Given the description of an element on the screen output the (x, y) to click on. 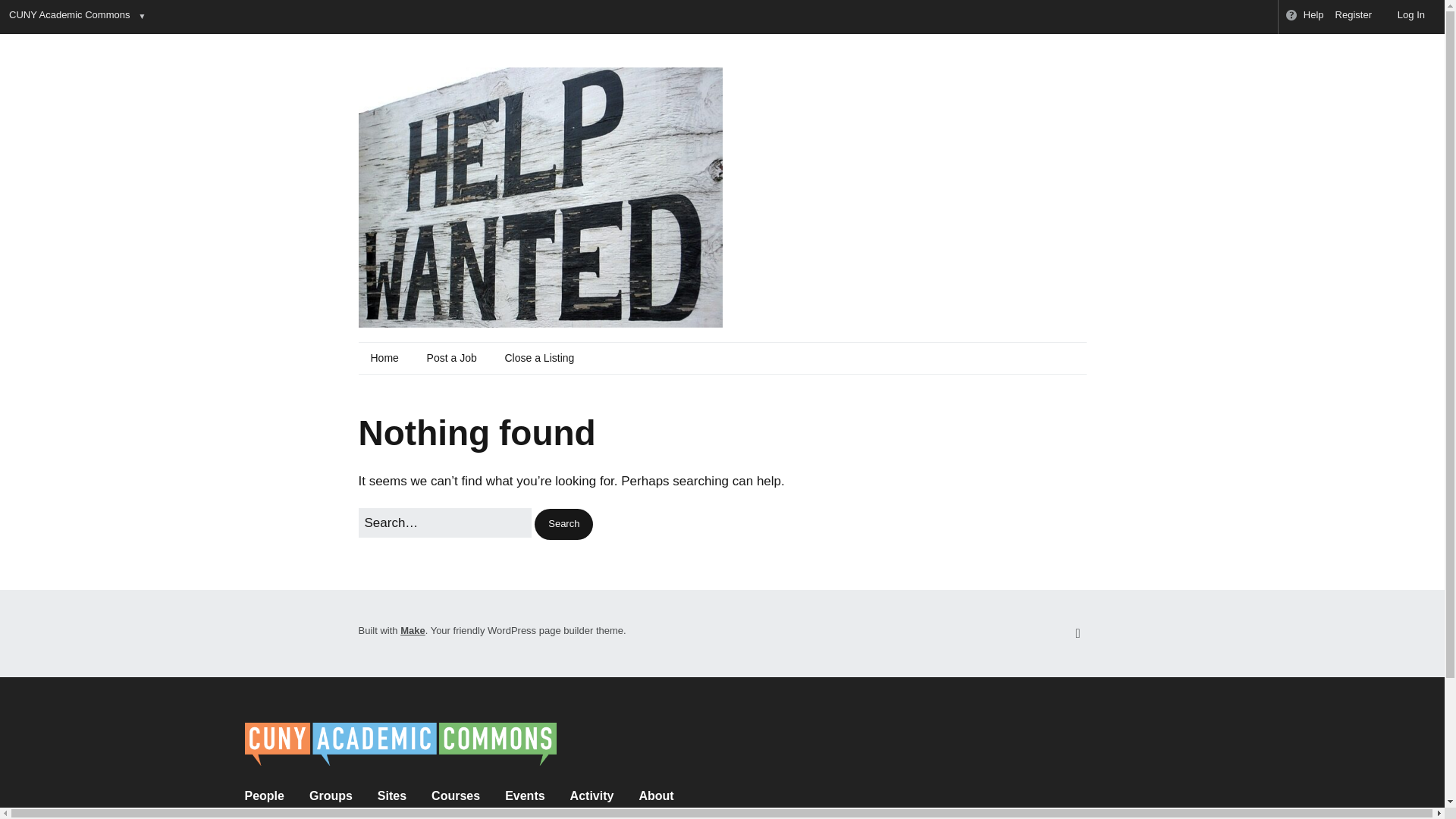
About (655, 795)
Activity (592, 795)
Post a Job (451, 358)
Courses (455, 795)
Make (412, 630)
Sites (391, 795)
Events (524, 795)
Press Enter to submit your search (444, 522)
Search (563, 523)
CUNY Academic Commons (68, 17)
Home (384, 358)
People (263, 795)
Search (563, 523)
Groups (330, 795)
Search (563, 523)
